Given the description of an element on the screen output the (x, y) to click on. 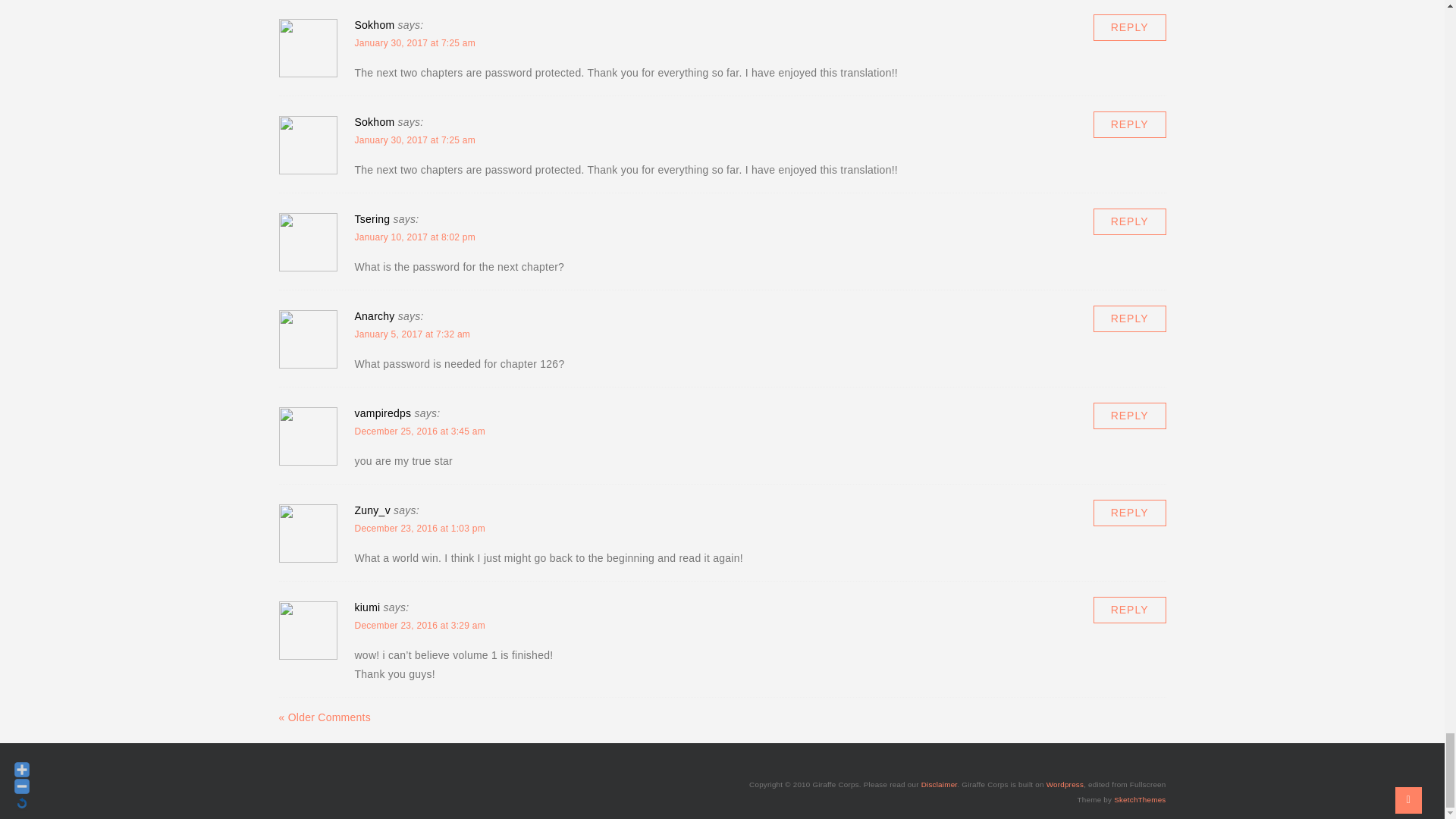
January 10, 2017 at 8:02 pm (415, 236)
January 30, 2017 at 7:25 am (415, 140)
January 30, 2017 at 7:25 am (415, 42)
REPLY (1129, 27)
REPLY (1129, 124)
